Given the description of an element on the screen output the (x, y) to click on. 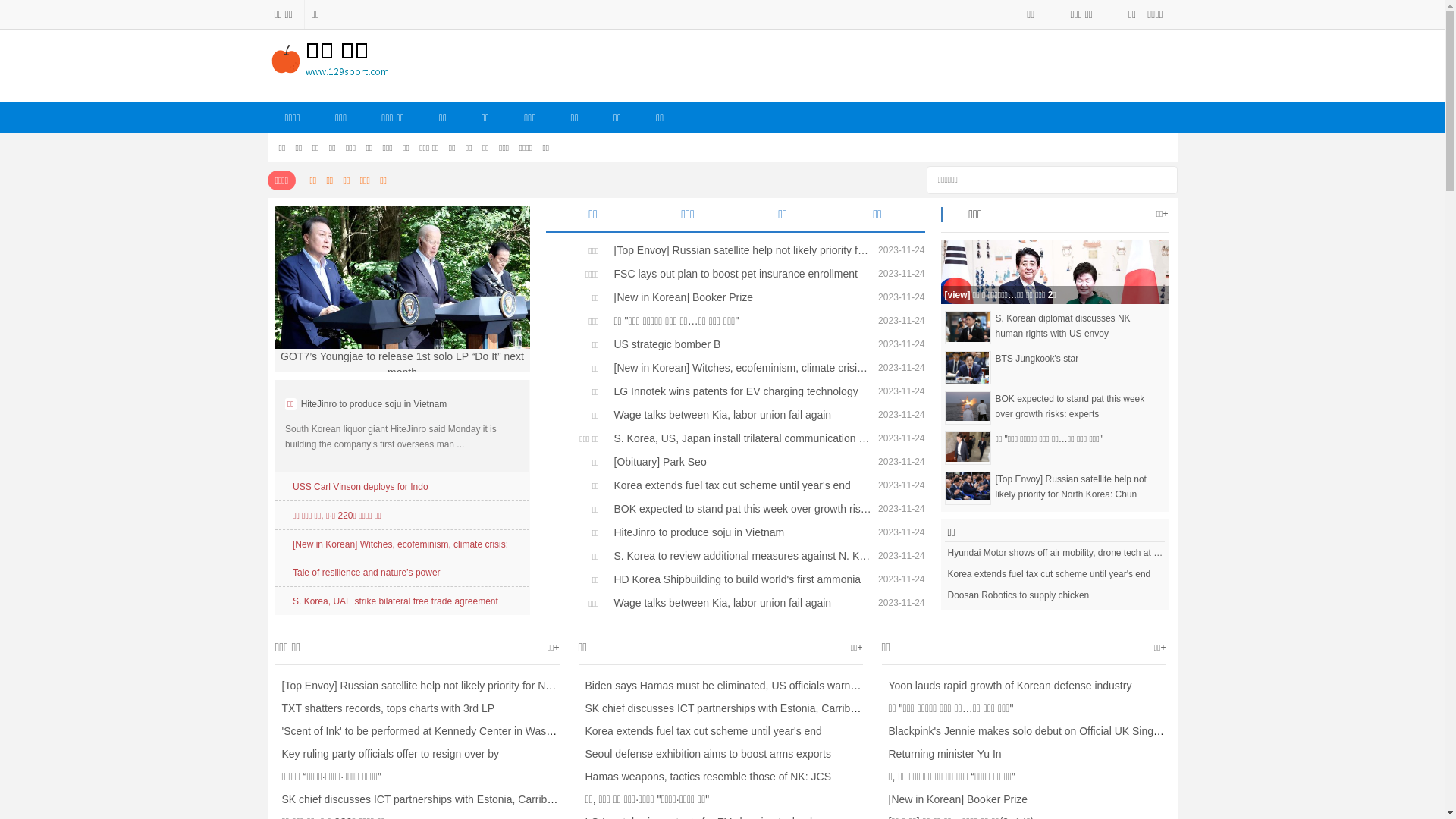
HiteJinro to produce soju in Vietnam Element type: text (739, 531)
Wage talks between Kia, labor union fail again Element type: text (739, 602)
Returning minister Yu In Element type: text (941, 753)
HiteJinro to produce soju in Vietnam Element type: text (371, 403)
[New in Korean] Booker Prize Element type: text (739, 296)
Korea extends fuel tax cut scheme until year's end Element type: text (699, 730)
Korea extends fuel tax cut scheme until year's end Element type: text (739, 484)
S. Korean diplomat discusses NK human rights with US envoy Element type: text (1075, 325)
S. Korean diplomat discusses NK human rights with US envoy Element type: hover (966, 326)
[Obituary] Park Seo Element type: text (739, 461)
BTS Jungkook Element type: hover (967, 366)
Key ruling party officials offer to resign over by Element type: text (386, 753)
LG Innotek wins patents for EV charging technology Element type: text (739, 390)
FSC lays out plan to boost pet insurance enrollment Element type: text (739, 273)
HD Korea Shipbuilding to build world's first ammonia Element type: text (739, 578)
USS Carl Vinson deploys for Indo Element type: text (360, 486)
Korea extends fuel tax cut scheme until year's end Element type: text (1053, 573)
US strategic bomber B Element type: text (739, 343)
  Element type: text (1159, 176)
Seoul defense exhibition aims to boost arms exports Element type: text (704, 753)
Doosan Robotics to supply chicken Element type: text (1053, 594)
Hamas weapons, tactics resemble those of NK: JCS Element type: text (703, 776)
Wage talks between Kia, labor union fail again Element type: text (739, 414)
S. Korea, UAE strike bilateral free trade agreement Element type: text (395, 601)
BTS Jungkook's star Element type: text (1075, 358)
[New in Korean] Booker Prize Element type: text (954, 799)
Yoon lauds rapid growth of Korean defense industry Element type: text (1006, 685)
TXT shatters records, tops charts with 3rd LP Element type: text (384, 708)
